Given the description of an element on the screen output the (x, y) to click on. 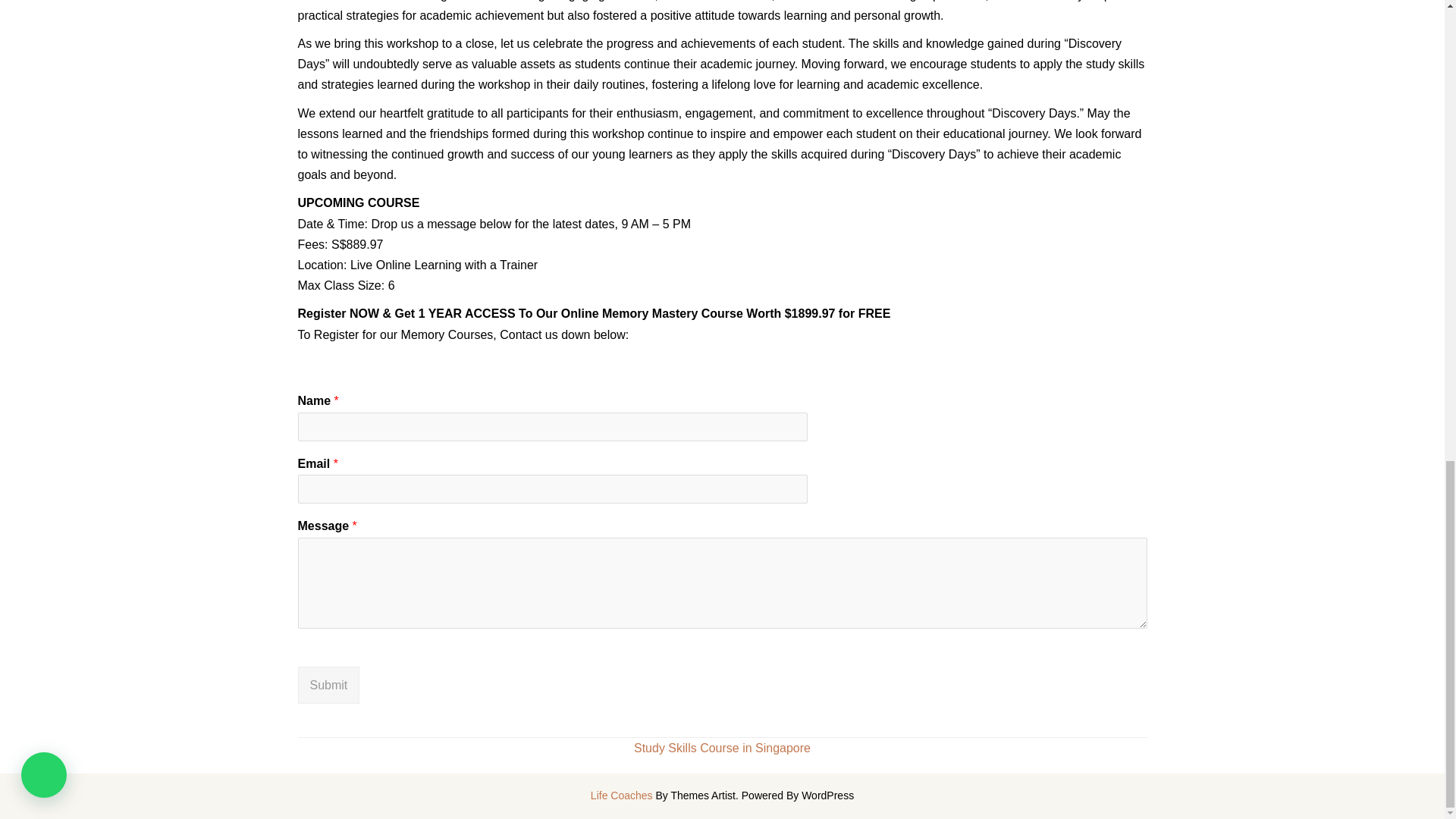
Life Coaches (621, 795)
Study Skills Course in Singapore (721, 748)
Submit (328, 684)
